Given the description of an element on the screen output the (x, y) to click on. 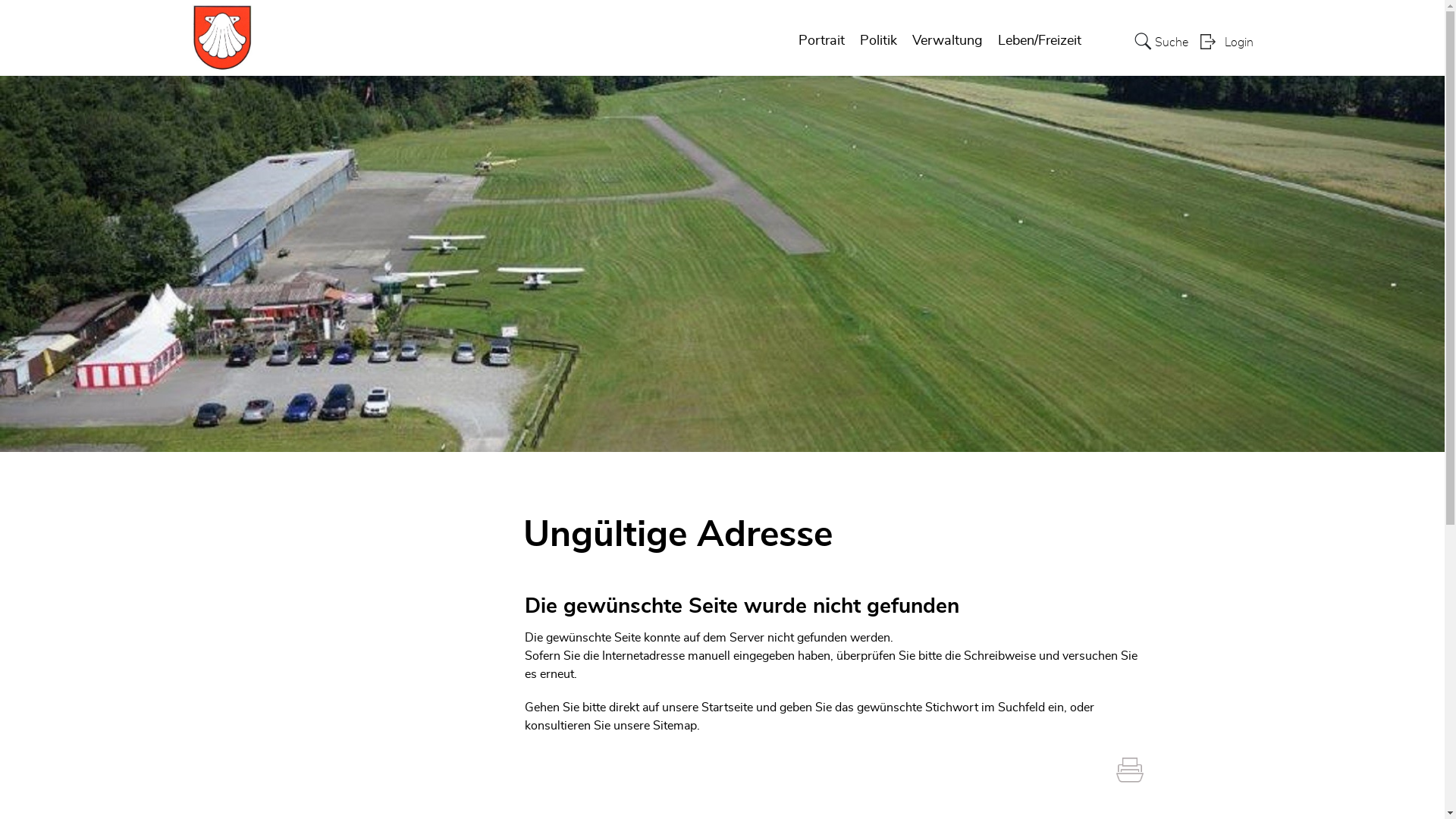
Politik Element type: text (878, 40)
Verwaltung Element type: text (946, 40)
Leben/Freizeit Element type: text (1039, 40)
Suche Element type: text (1161, 41)
Login Element type: text (1225, 41)
Startseite Element type: text (727, 707)
zur Startseite Element type: text (0, 0)
Portrait Element type: text (820, 40)
